Given the description of an element on the screen output the (x, y) to click on. 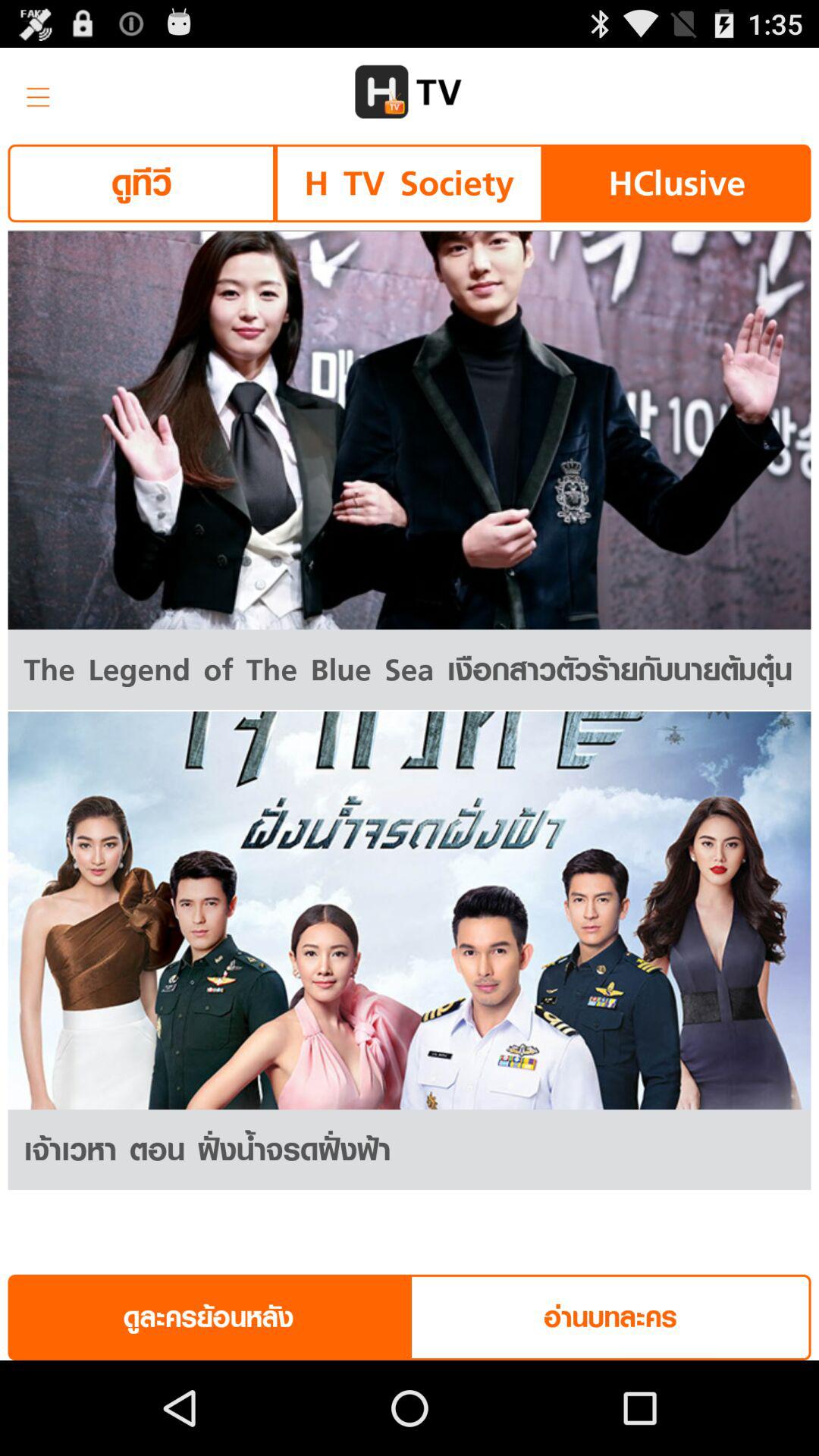
jump until the hclusive icon (677, 183)
